Given the description of an element on the screen output the (x, y) to click on. 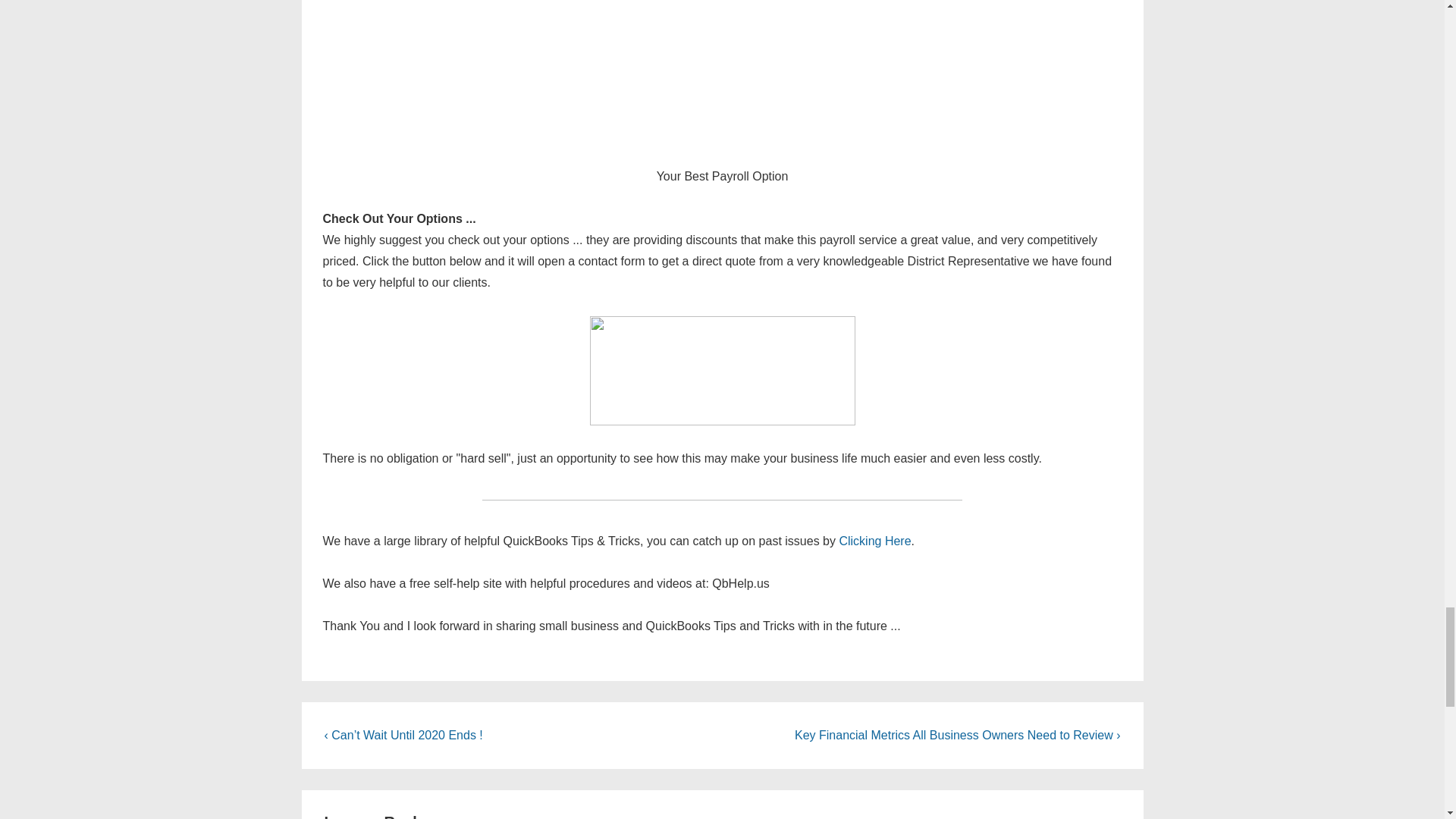
Clicking Here (874, 540)
get-a-quote (722, 370)
